Given the description of an element on the screen output the (x, y) to click on. 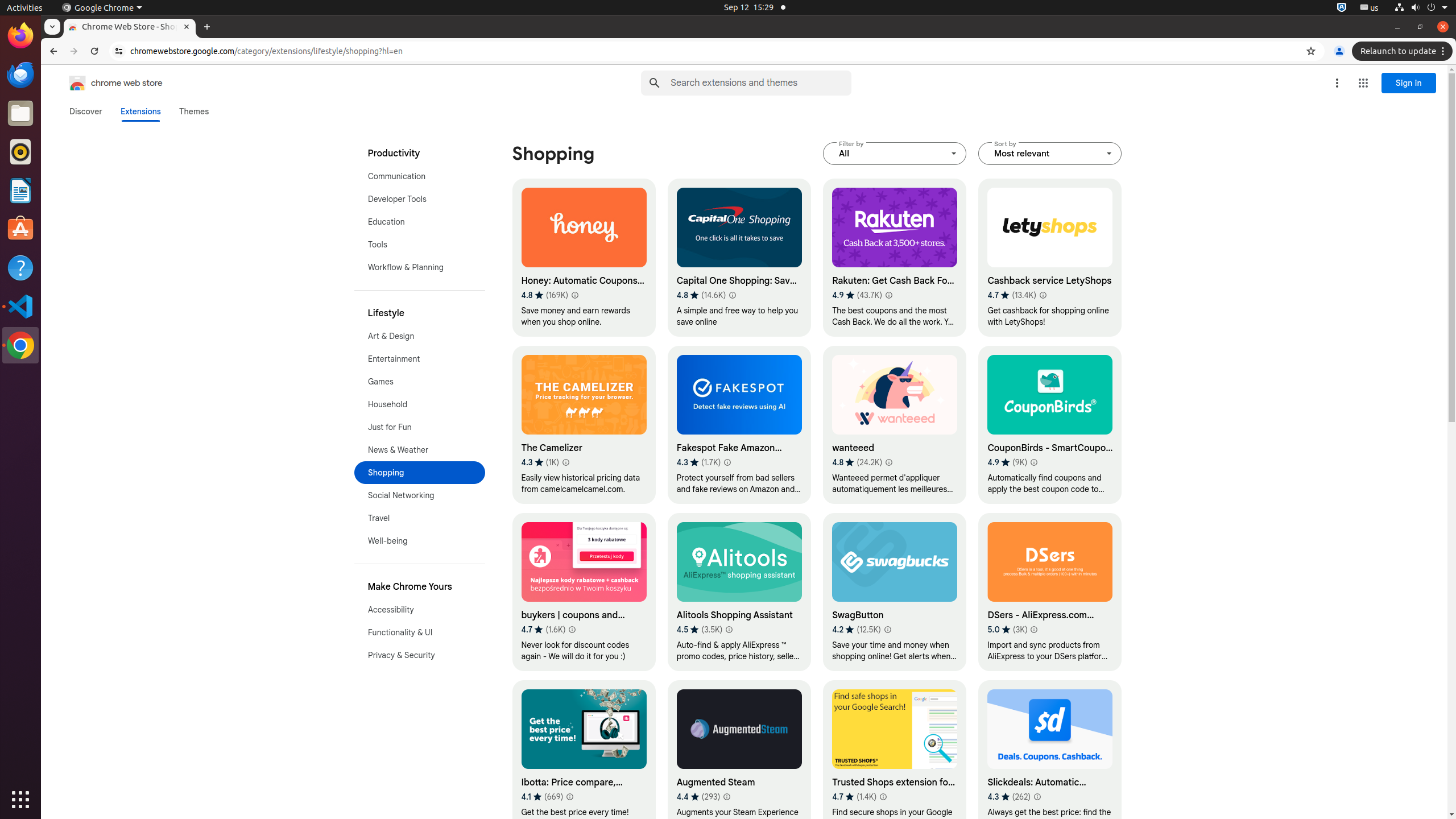
Bookmark this tab Element type: push-button (1310, 51)
Social Networking Element type: menu-item (419, 495)
Learn more about results and reviews "Ibotta: Price compare, cashback, item alerts" Element type: push-button (569, 796)
Themes Element type: page-tab (193, 111)
Firefox Web Browser Element type: push-button (20, 35)
